Given the description of an element on the screen output the (x, y) to click on. 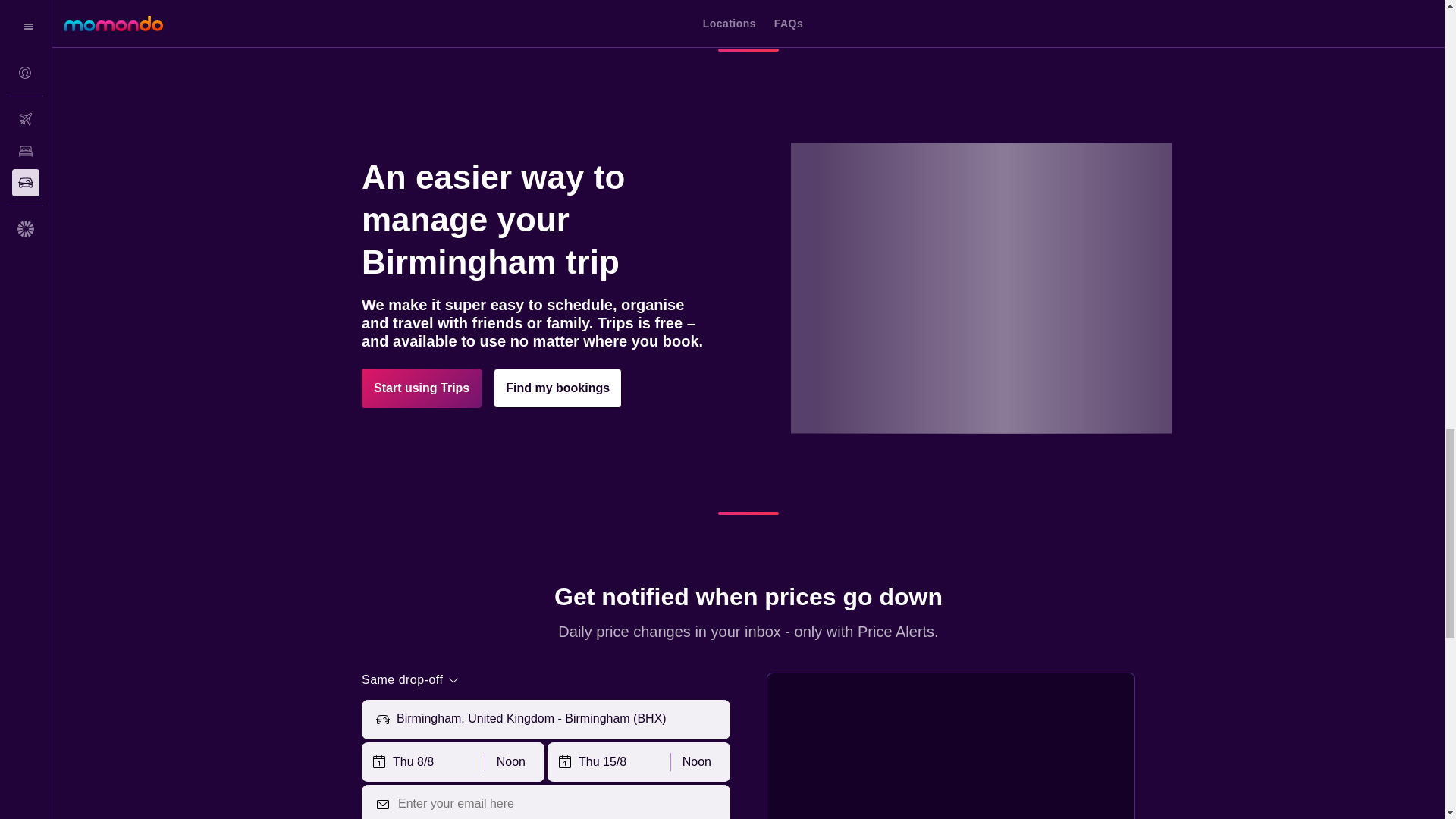
Find my bookings (557, 387)
Start using Trips (421, 387)
